Given the description of an element on the screen output the (x, y) to click on. 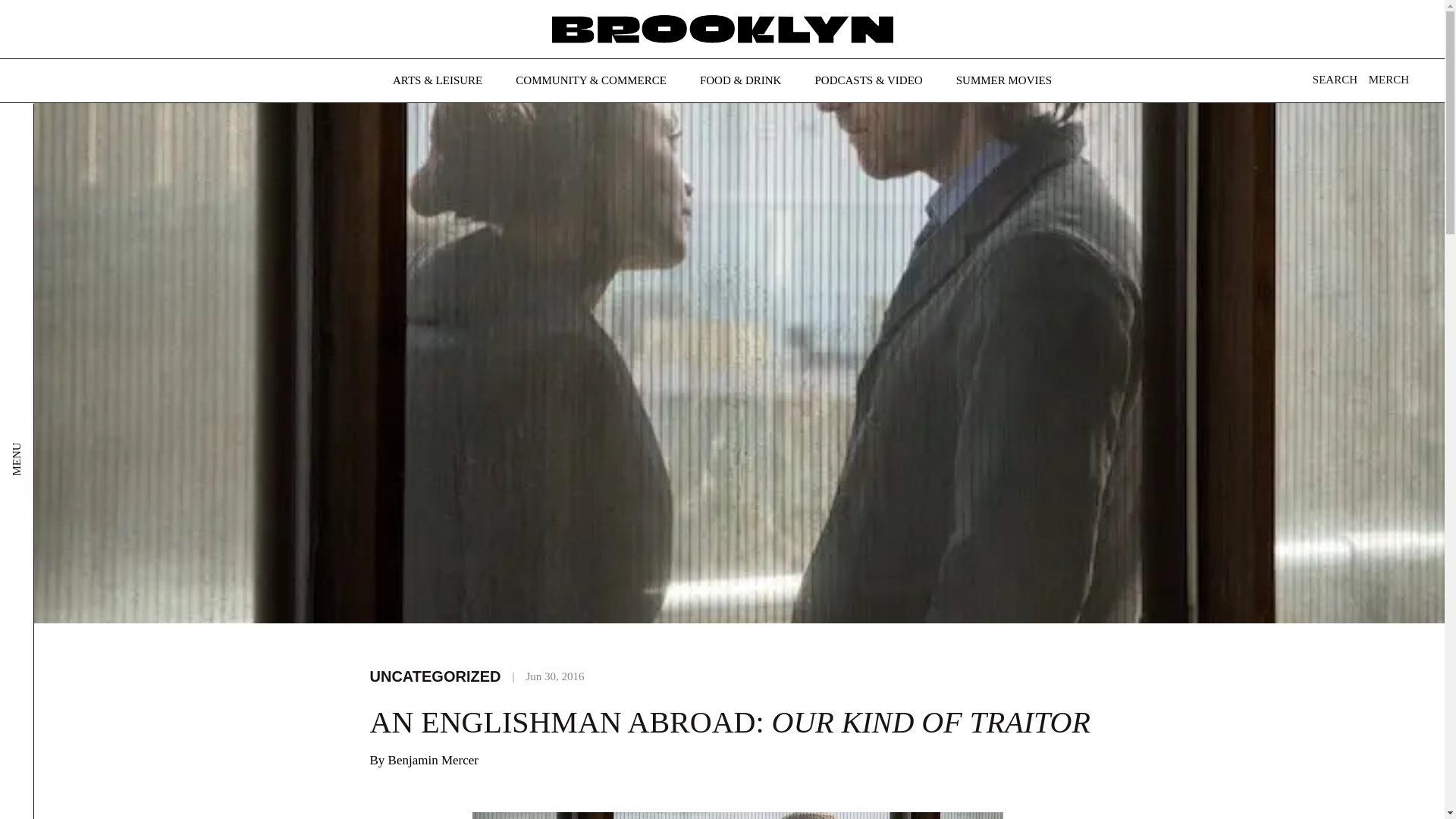
SEARCH (1330, 83)
SUMMER MOVIES (1003, 80)
MERCH (1388, 79)
